Given the description of an element on the screen output the (x, y) to click on. 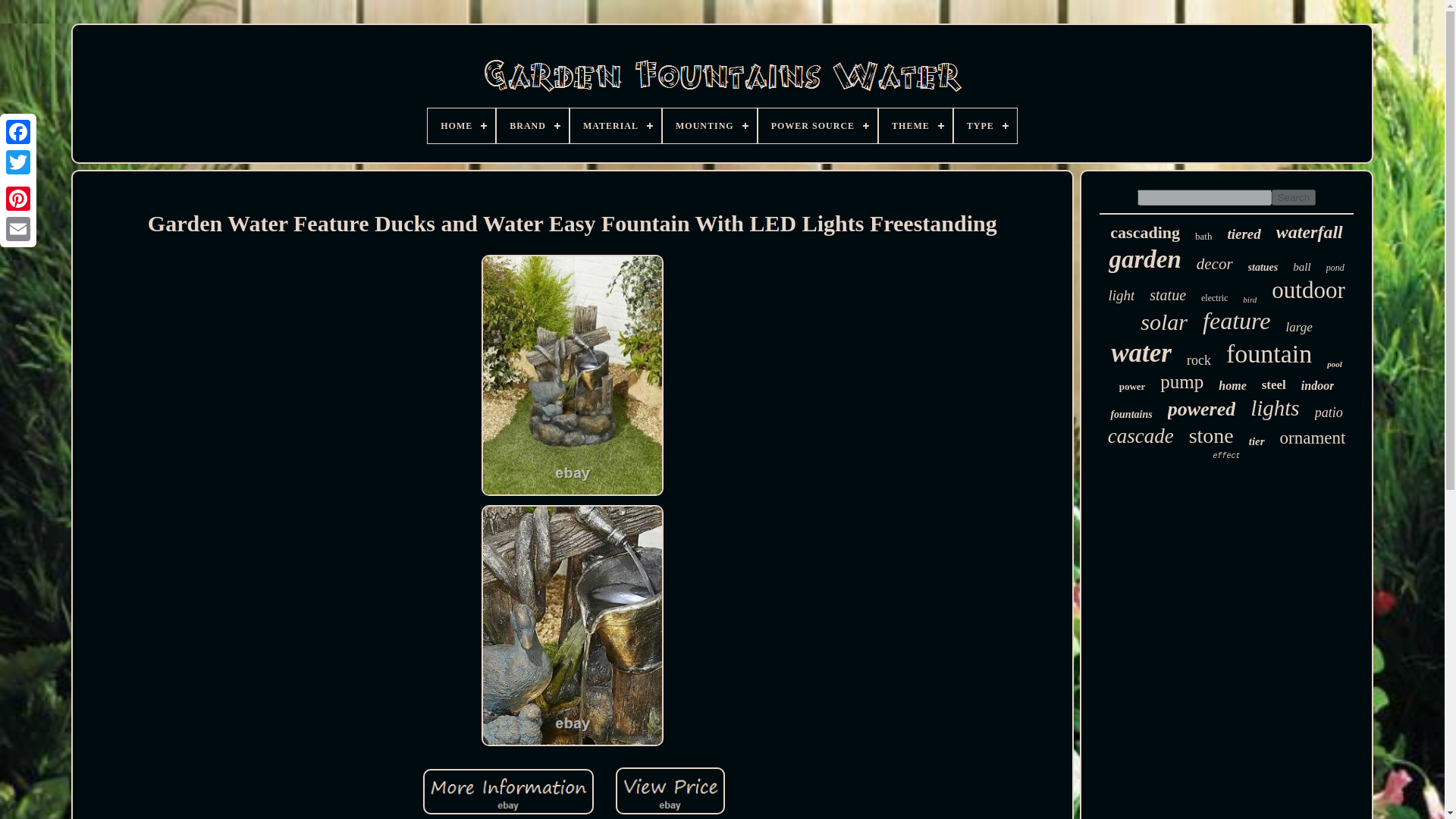
BRAND (532, 125)
MATERIAL (615, 125)
Search (1293, 197)
HOME (461, 125)
